Given the description of an element on the screen output the (x, y) to click on. 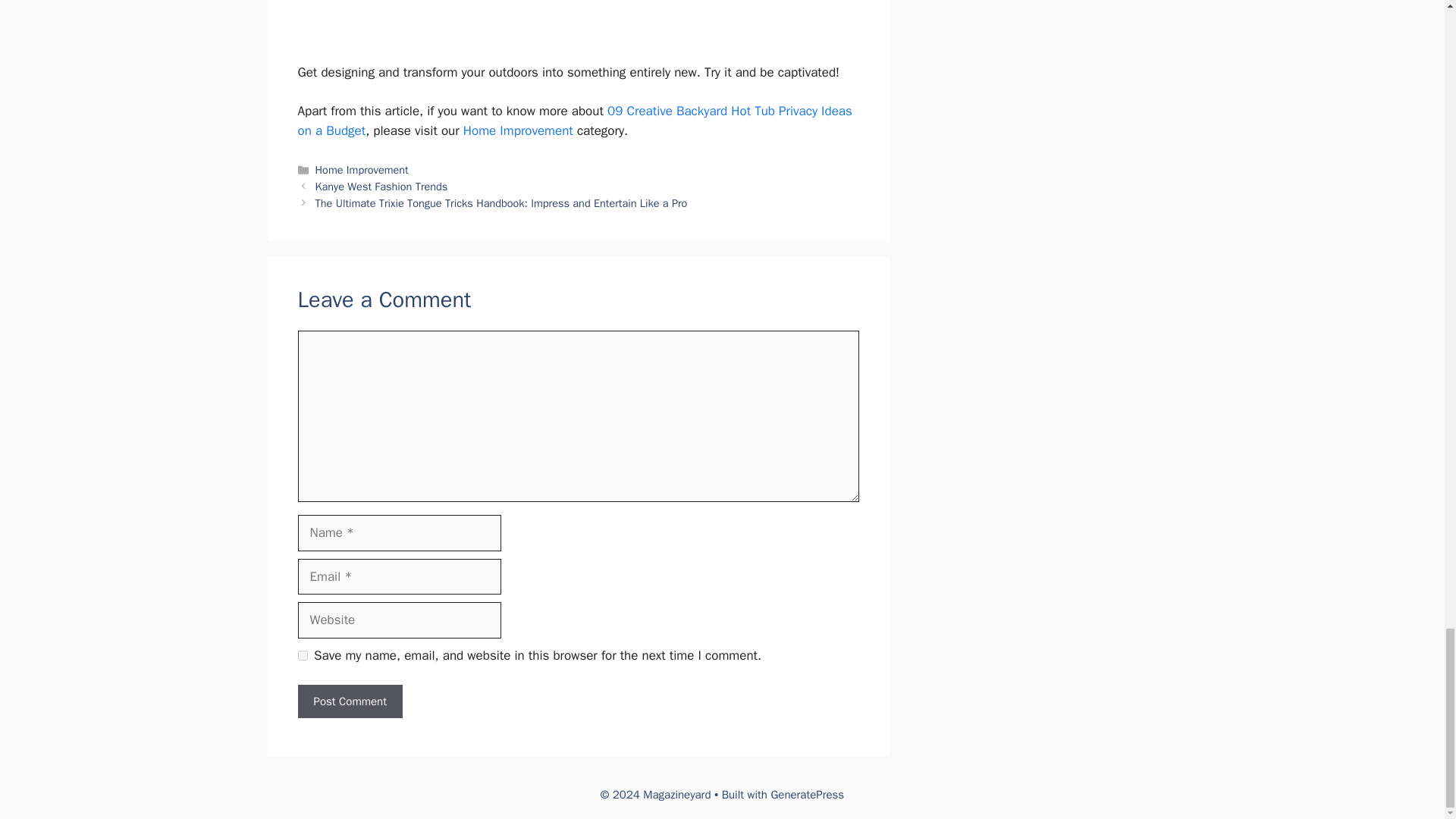
yes (302, 655)
Home Improvement (518, 130)
Home Improvement (362, 169)
Post Comment (349, 701)
Kanye West Fashion Trends (381, 186)
09 Creative Backyard Hot Tub Privacy Ideas on a Budget (574, 120)
GeneratePress (807, 794)
Post Comment (349, 701)
